Given the description of an element on the screen output the (x, y) to click on. 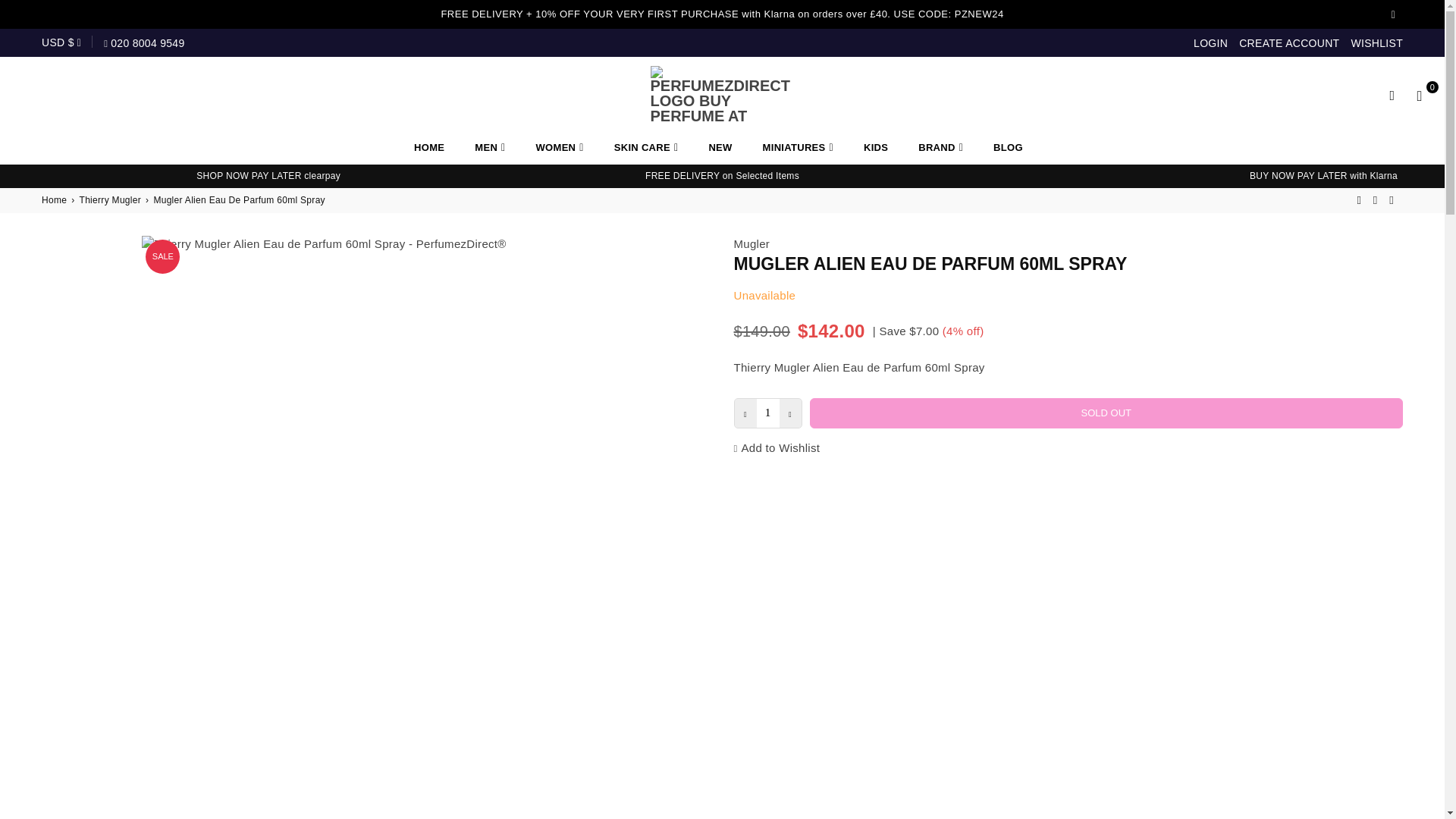
WISHLIST (1377, 43)
Quantity (767, 413)
Cart (1419, 94)
0 (1419, 94)
Back to the home page (55, 200)
Mugler (751, 243)
CREATE ACCOUNT (1289, 43)
HOME (429, 147)
Previous Product (1358, 200)
Next Product (1390, 200)
MEN (489, 147)
Search (1392, 94)
LOGIN (1210, 43)
Thierry Mugler (1374, 200)
